Given the description of an element on the screen output the (x, y) to click on. 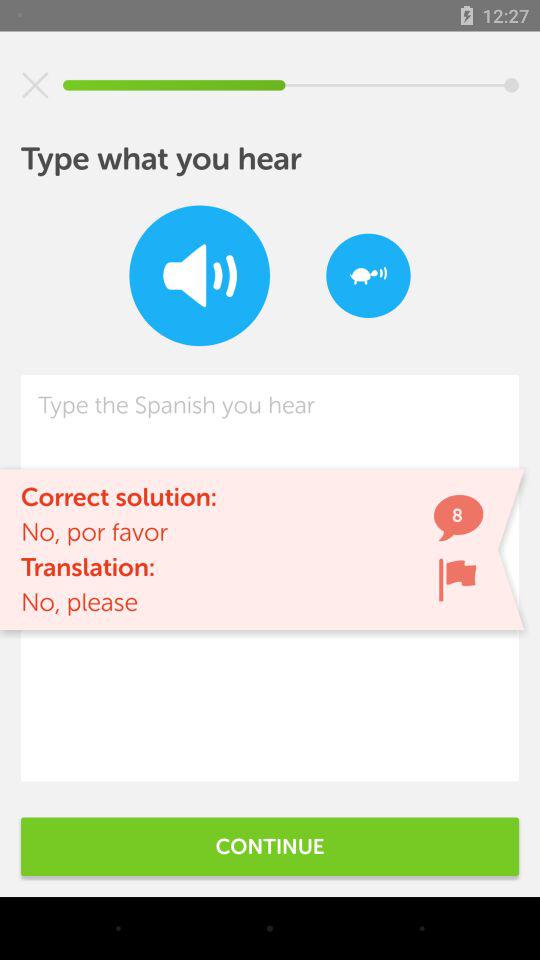
swipe to continue item (270, 846)
